Given the description of an element on the screen output the (x, y) to click on. 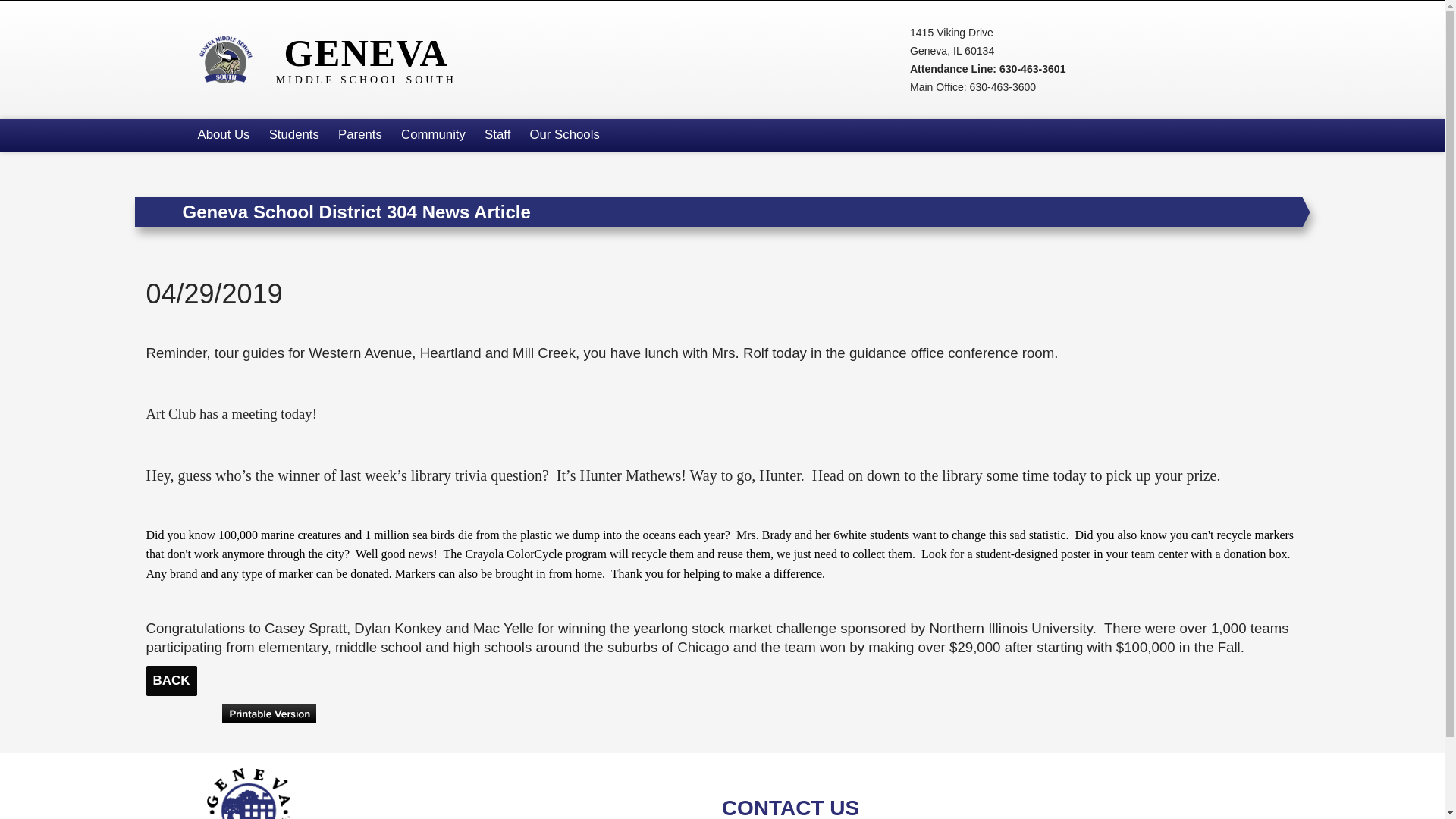
Students (293, 135)
About Us (223, 135)
